Given the description of an element on the screen output the (x, y) to click on. 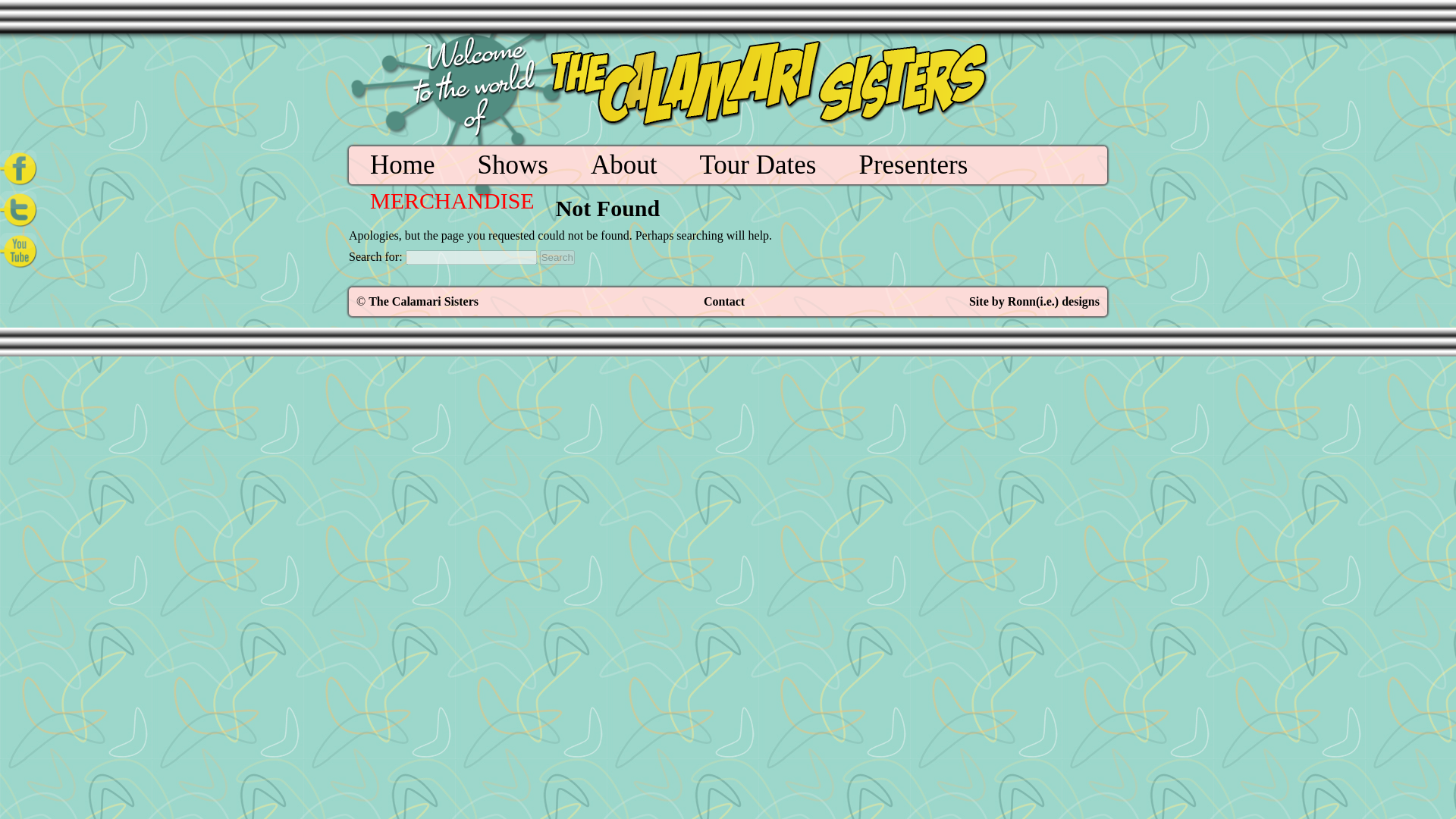
Shows (513, 164)
Tour Dates (756, 164)
MERCHANDISE (451, 200)
The Calamari Sisters (423, 300)
About (624, 164)
Home (402, 164)
Search (557, 257)
The Calamari Sisters (423, 300)
Presenters (913, 164)
Search (557, 257)
